Given the description of an element on the screen output the (x, y) to click on. 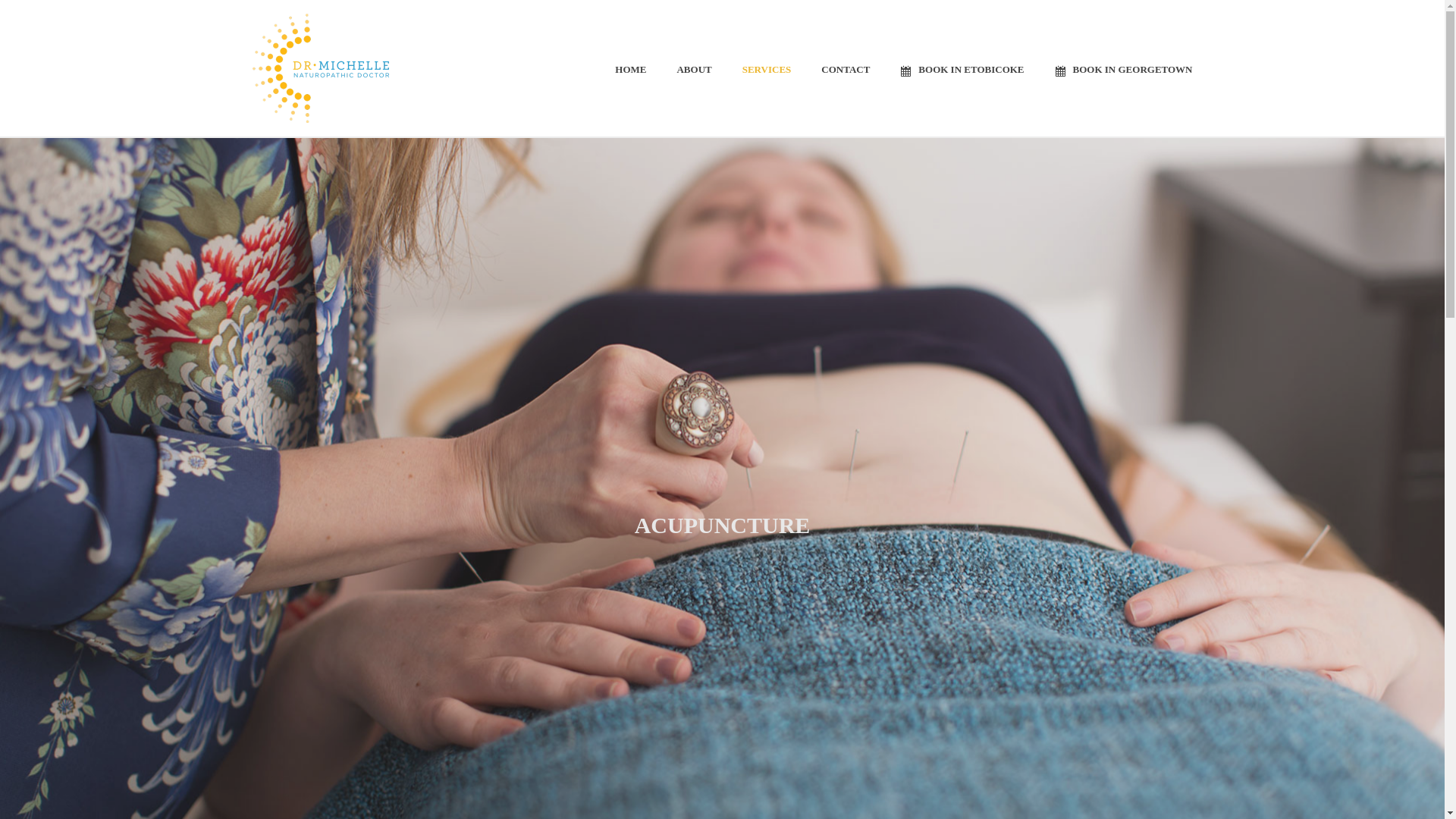
BOOK IN GEORGETOWN (1123, 68)
BOOK IN ETOBICOKE (962, 68)
BOOK IN GEORGETOWN (1123, 68)
BOOK IN ETOBICOKE (962, 68)
Naturopathic Doctor (319, 68)
